Given the description of an element on the screen output the (x, y) to click on. 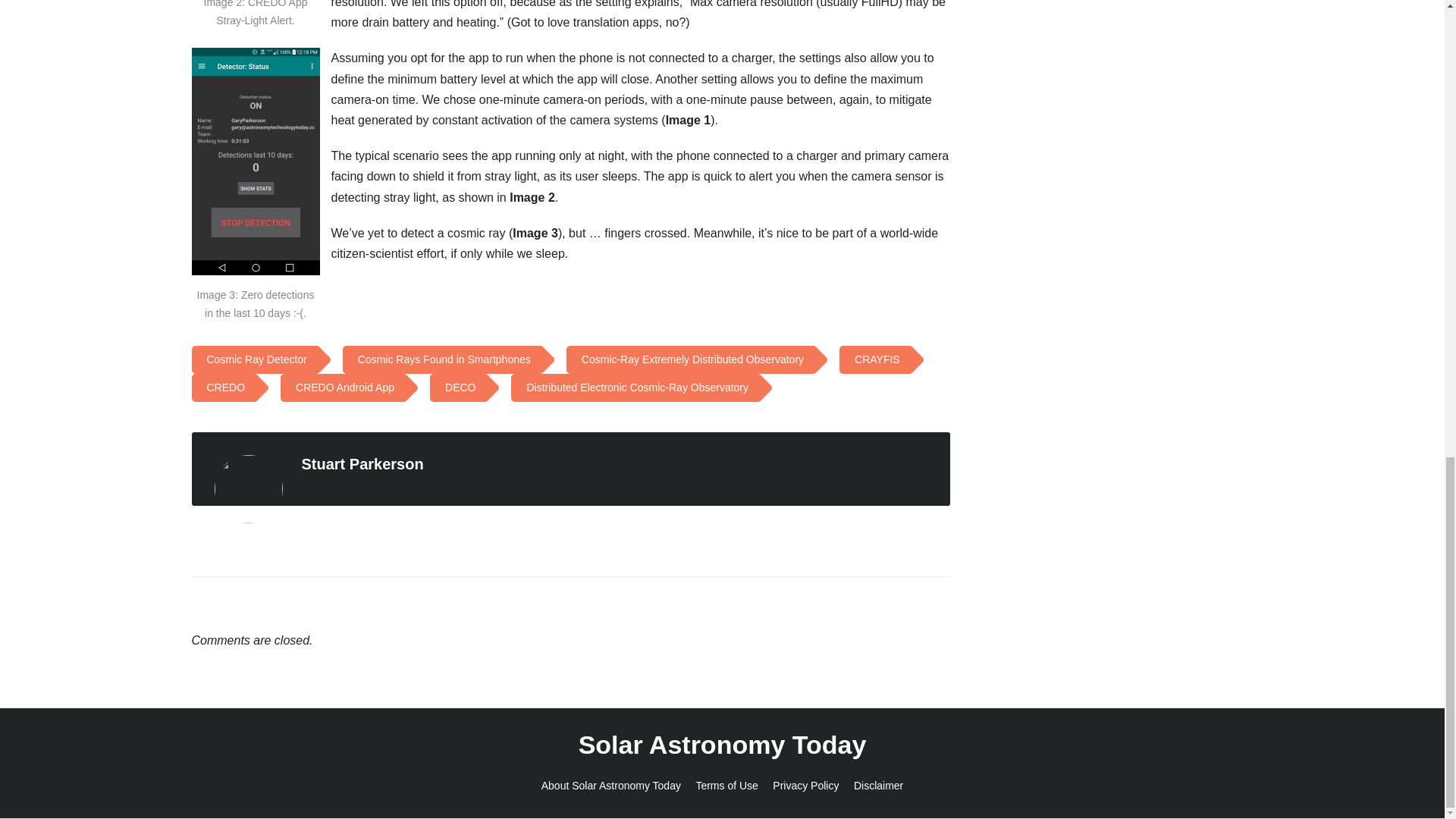
Posts by Stuart Parkerson (362, 463)
Cosmic Rays Found in Smartphones (441, 359)
CREDO (221, 387)
Cosmic-Ray Extremely Distributed Observatory (689, 359)
CRAYFIS (874, 359)
CREDO Android App (342, 387)
Cosmic Ray Detector (252, 359)
